Given the description of an element on the screen output the (x, y) to click on. 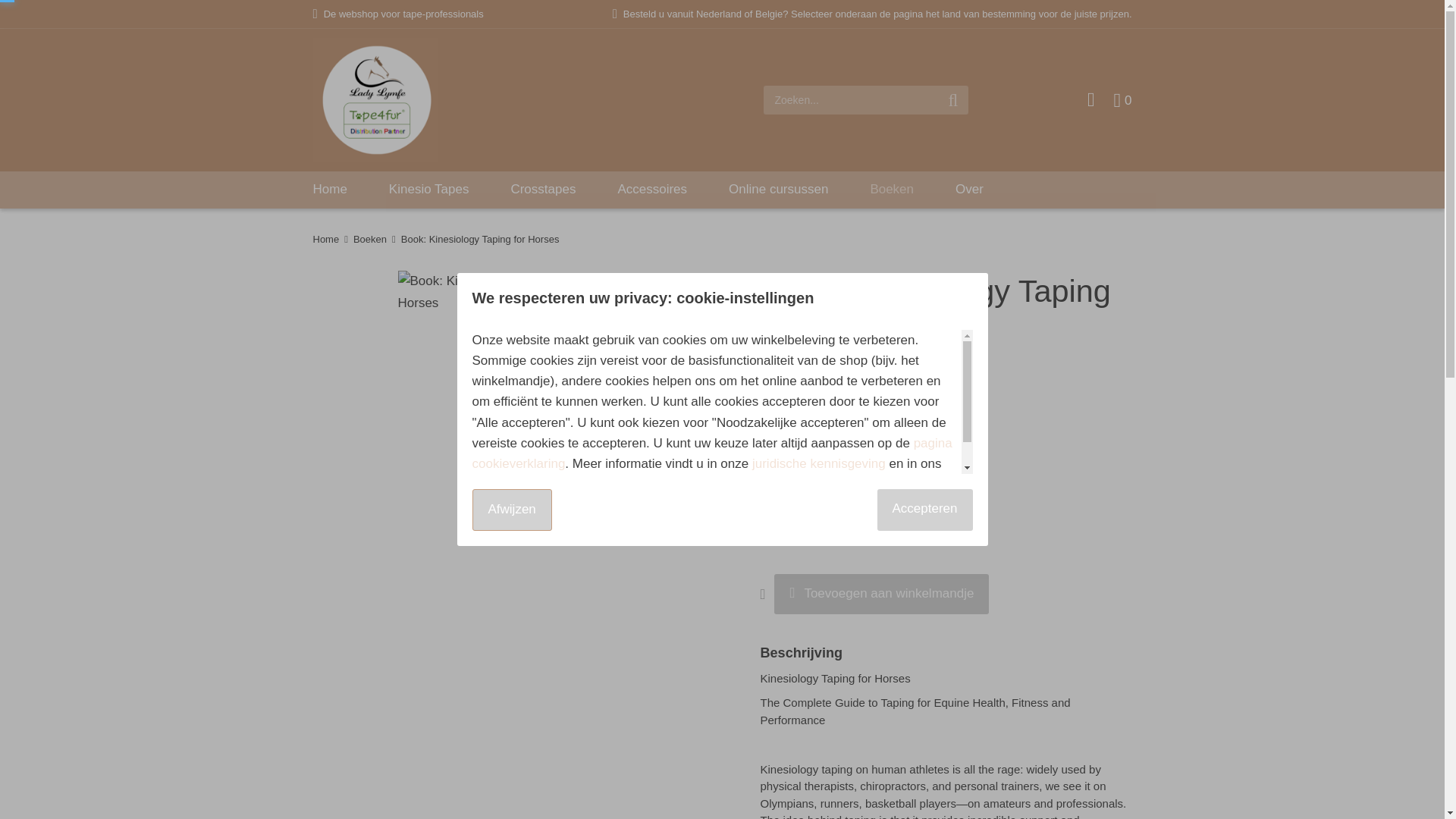
Toevoegen aan winkelmandje (881, 594)
excl. levering (834, 402)
Crosstapes (543, 188)
Accessoires (652, 188)
juridische kennisgeving (818, 463)
Home (326, 238)
pagina cookieverklaring (711, 452)
Boeken (370, 238)
Over (969, 188)
Lady Lymfe Shop (374, 99)
